Given the description of an element on the screen output the (x, y) to click on. 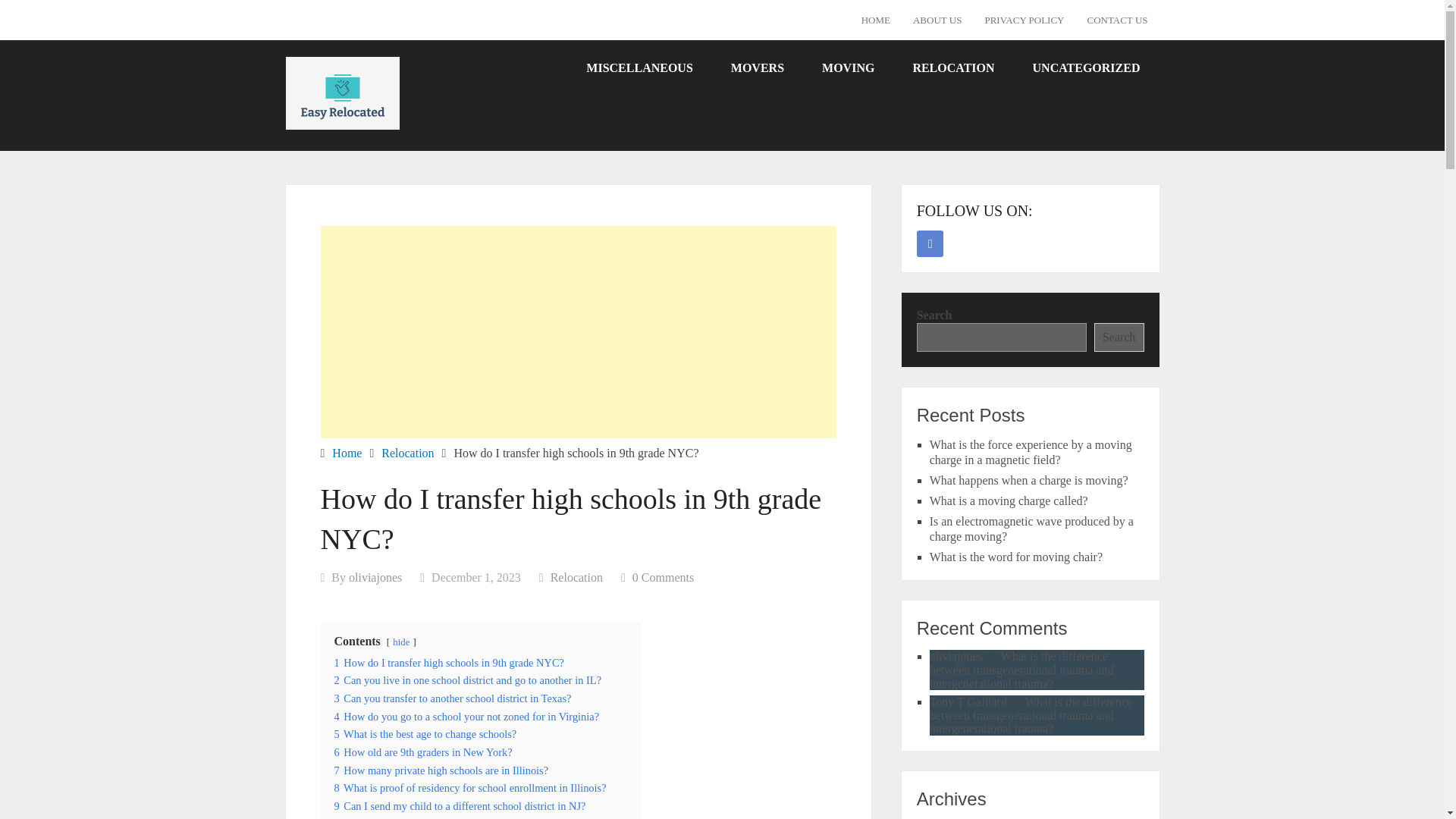
9 Can I send my child to a different school district in NJ? (459, 806)
PRIVACY POLICY (1023, 20)
MISCELLANEOUS (639, 67)
MOVING (848, 67)
hide (401, 642)
Posts by oliviajones (375, 576)
5 What is the best age to change schools? (424, 734)
0 Comments (662, 576)
MOVERS (757, 67)
